Given the description of an element on the screen output the (x, y) to click on. 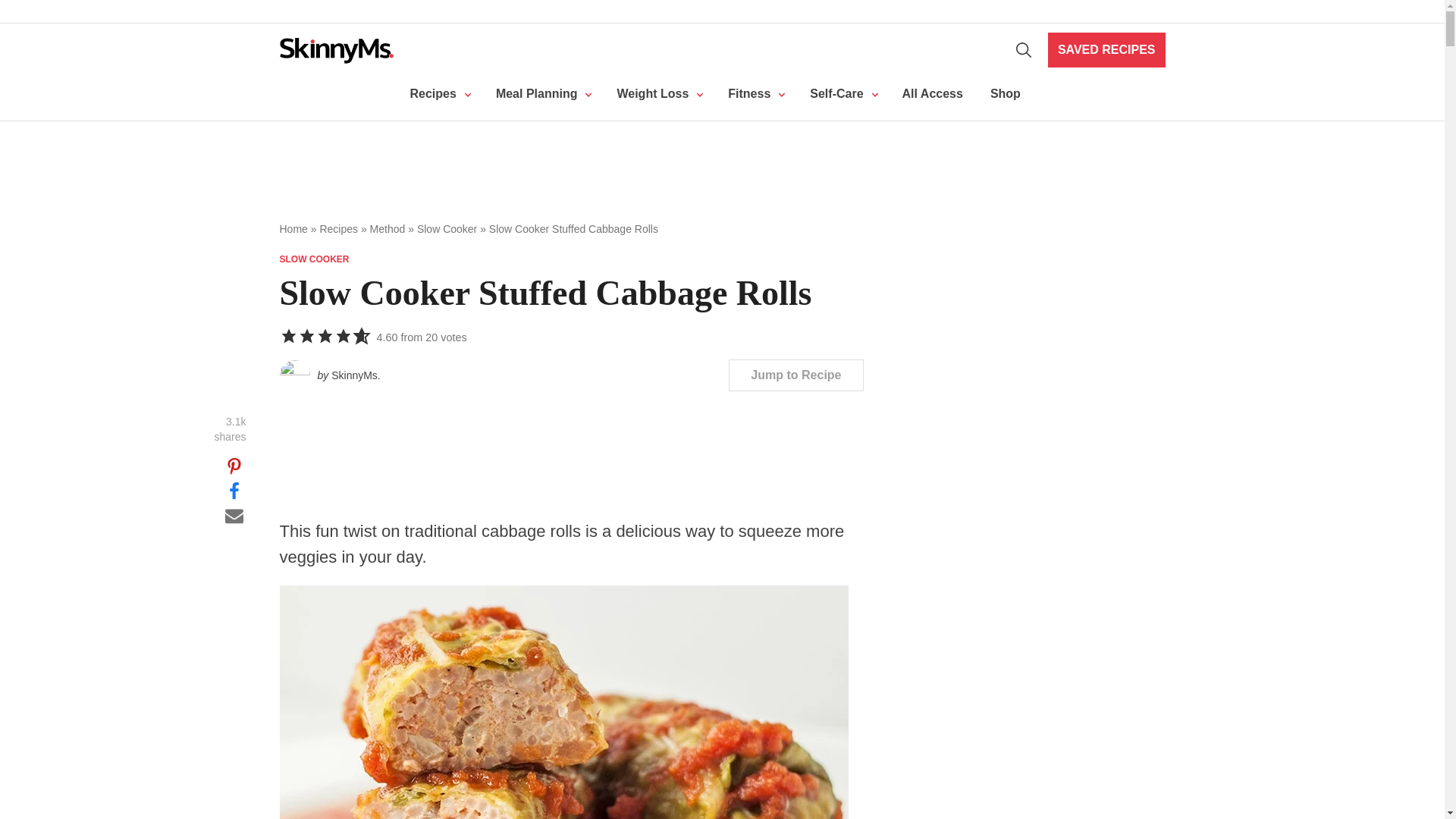
Search (1023, 49)
Share on Facebook (233, 489)
Skinny Ms. (336, 49)
Share via Email (233, 514)
Recipes (438, 94)
Weight Loss Recipes And Menus (541, 94)
Share on Pinterest (233, 465)
SAVED RECIPES (1107, 49)
